Given the description of an element on the screen output the (x, y) to click on. 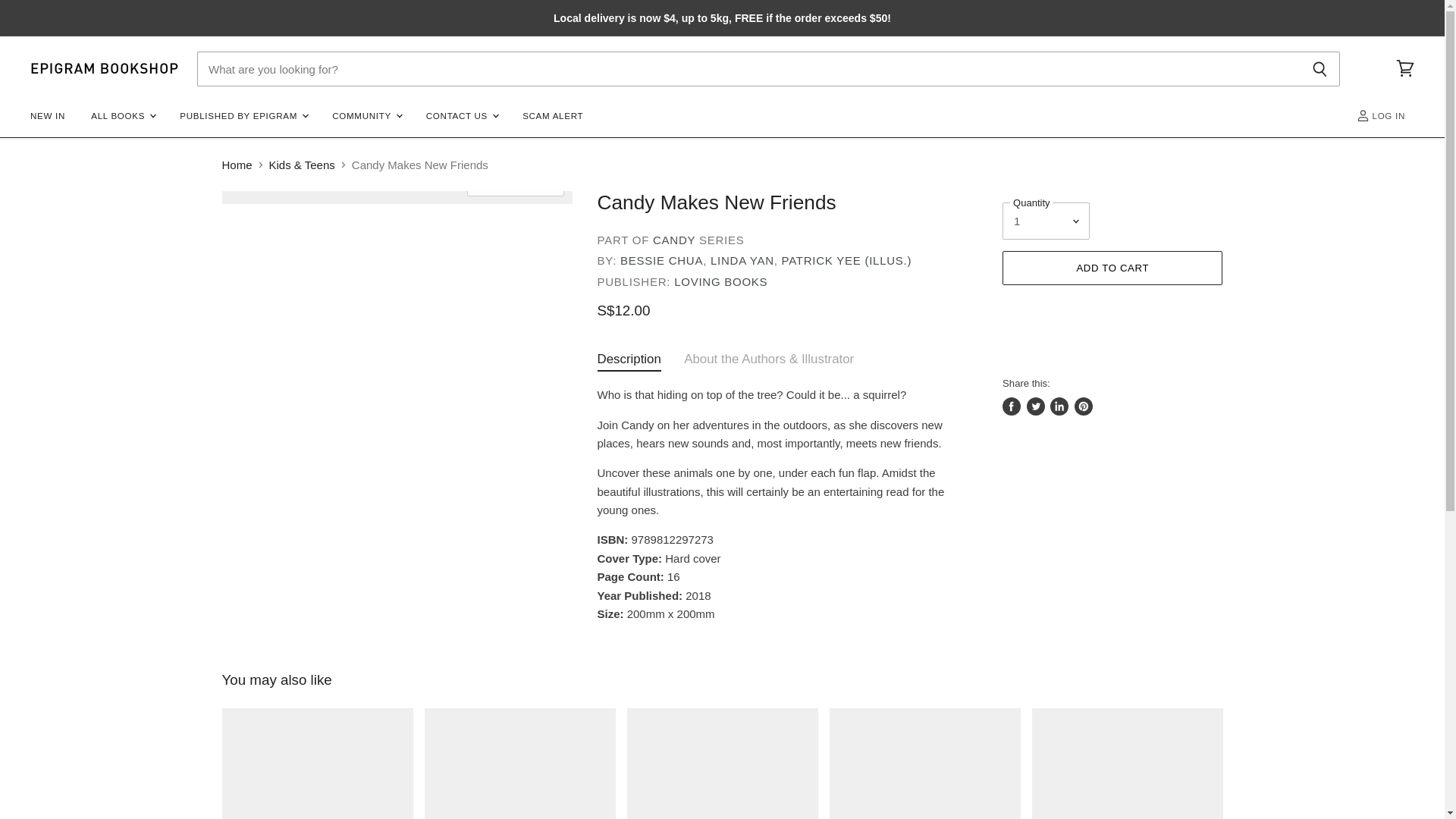
NEW IN (47, 115)
ACCOUNT ICON (1363, 115)
ALL BOOKS (122, 115)
View cart (1405, 68)
